Given the description of an element on the screen output the (x, y) to click on. 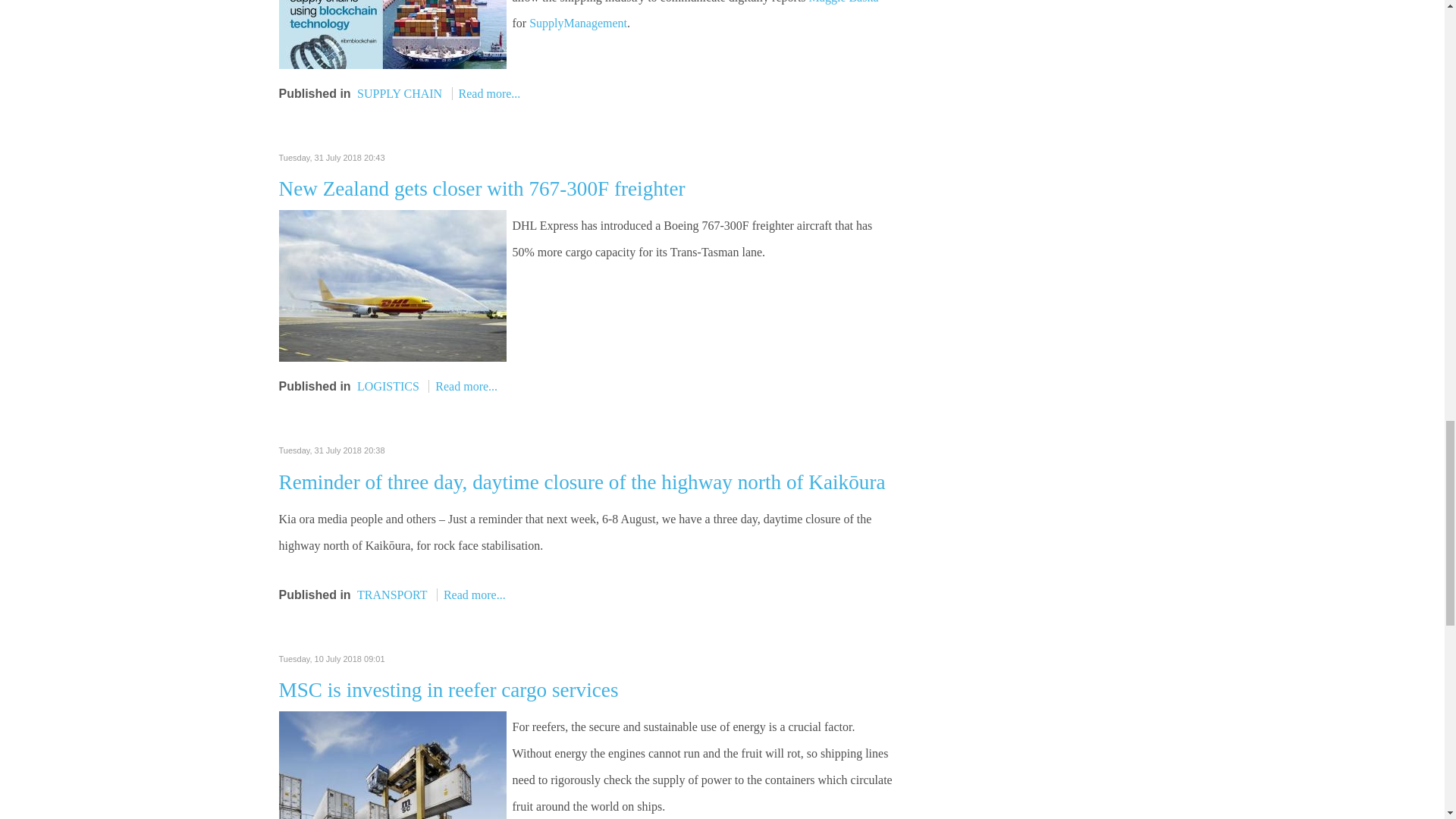
MSC is investing in reefer cargo services (392, 795)
New Zealand gets closer with 767-300F freighter (392, 284)
